Given the description of an element on the screen output the (x, y) to click on. 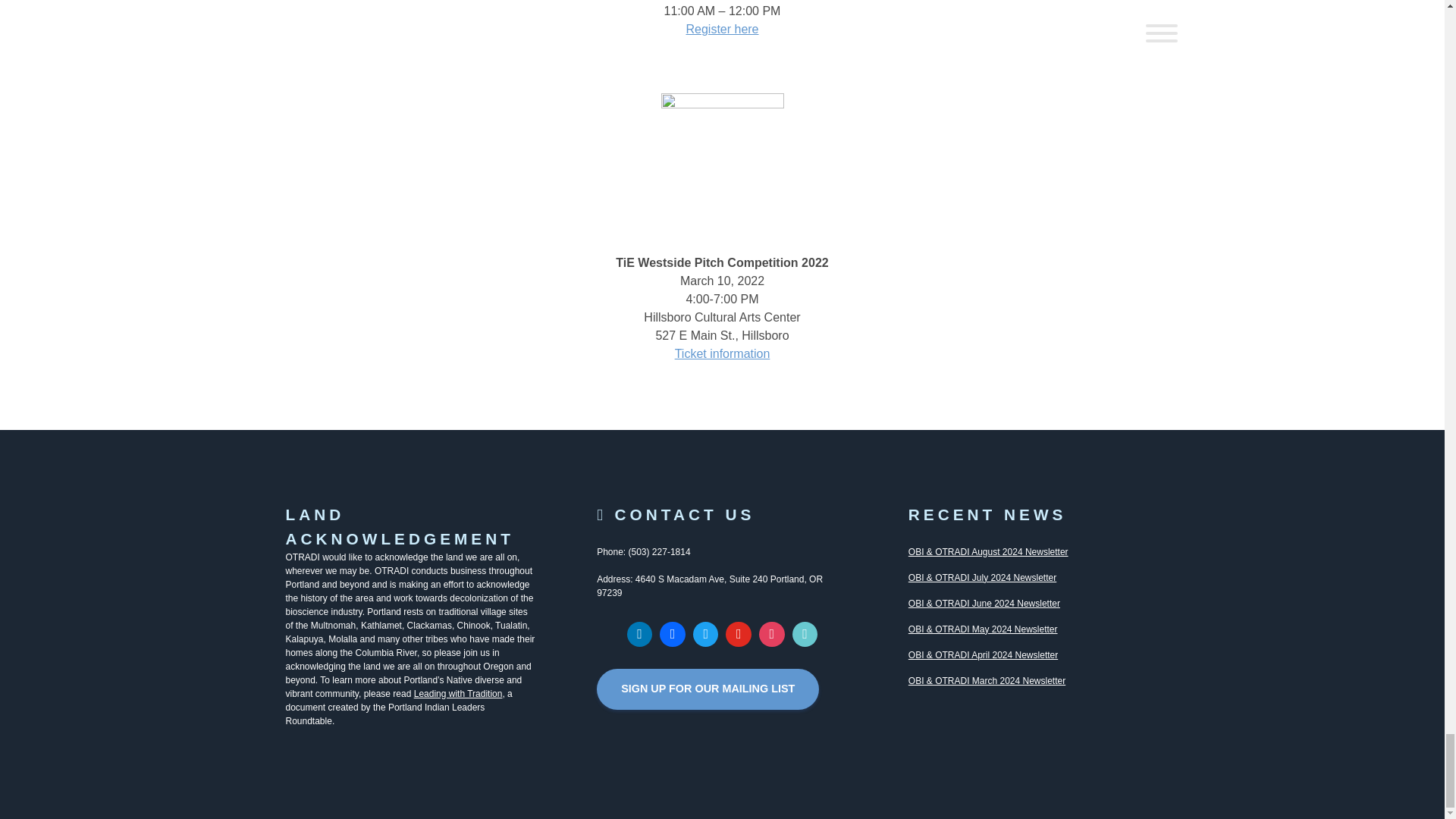
Twitter (705, 634)
Facebook (672, 634)
Youtube (738, 634)
Tiktok (805, 634)
Instagram (772, 634)
Linkedin (639, 634)
